Given the description of an element on the screen output the (x, y) to click on. 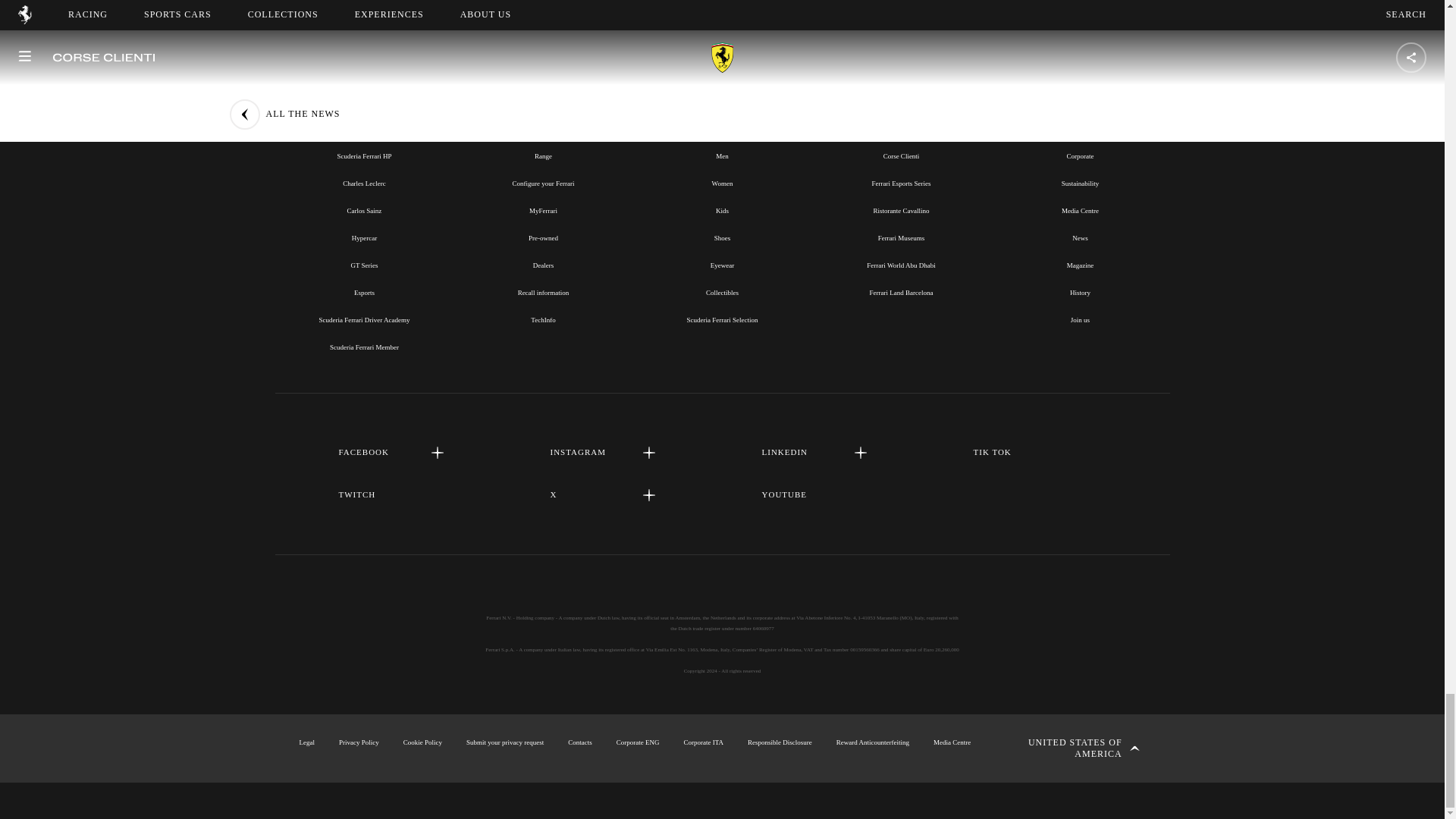
Change country (1072, 748)
Dealers (542, 265)
Pre-owned (542, 237)
Esports (363, 292)
Recall information (543, 292)
Configure your Ferrari (543, 183)
GT Series (363, 265)
Charles Leclerc (363, 183)
Scuderia Ferrari Member (364, 347)
Range (542, 155)
